Given the description of an element on the screen output the (x, y) to click on. 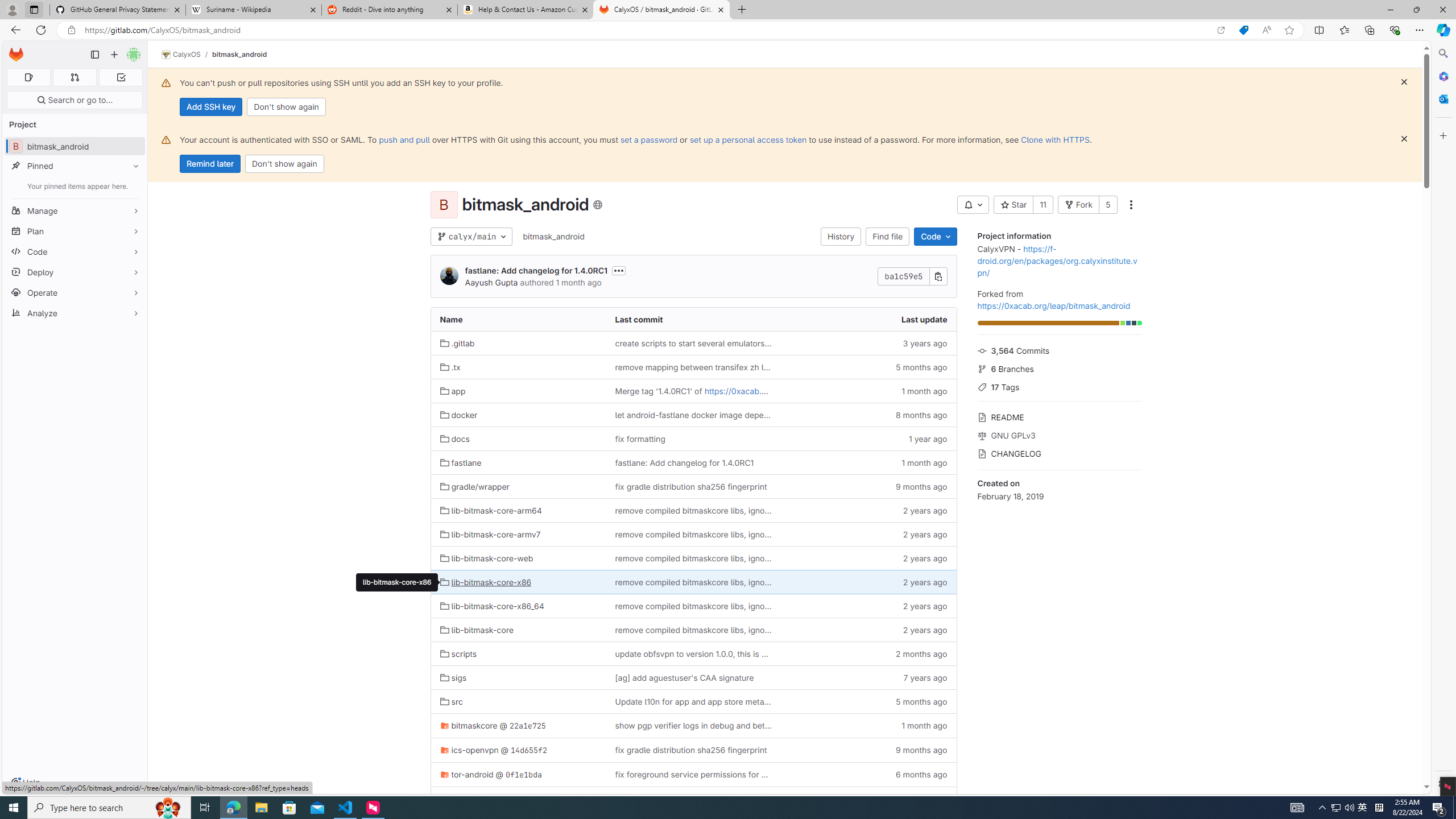
17 Tags (1058, 385)
Bbitmask_android (74, 145)
Code (935, 236)
scripts (517, 653)
fix formatting (693, 438)
sigs (517, 677)
Pinned (74, 165)
2 years ago (868, 629)
bitmask_android (553, 236)
1 month ago (868, 725)
ics-openvpn @ 14d655f2 (517, 749)
